Given the description of an element on the screen output the (x, y) to click on. 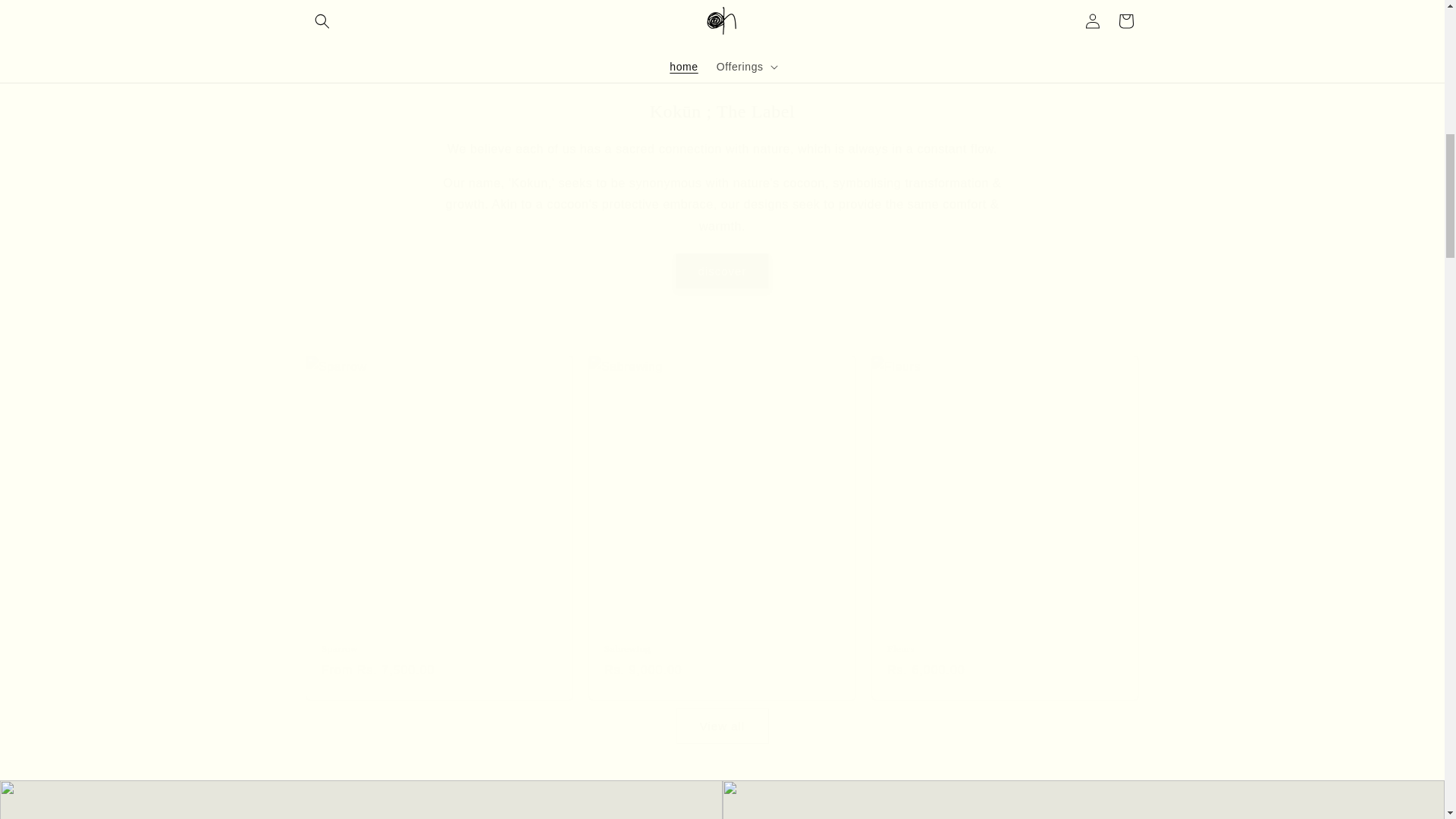
discover (722, 271)
Summer (721, 34)
